Given the description of an element on the screen output the (x, y) to click on. 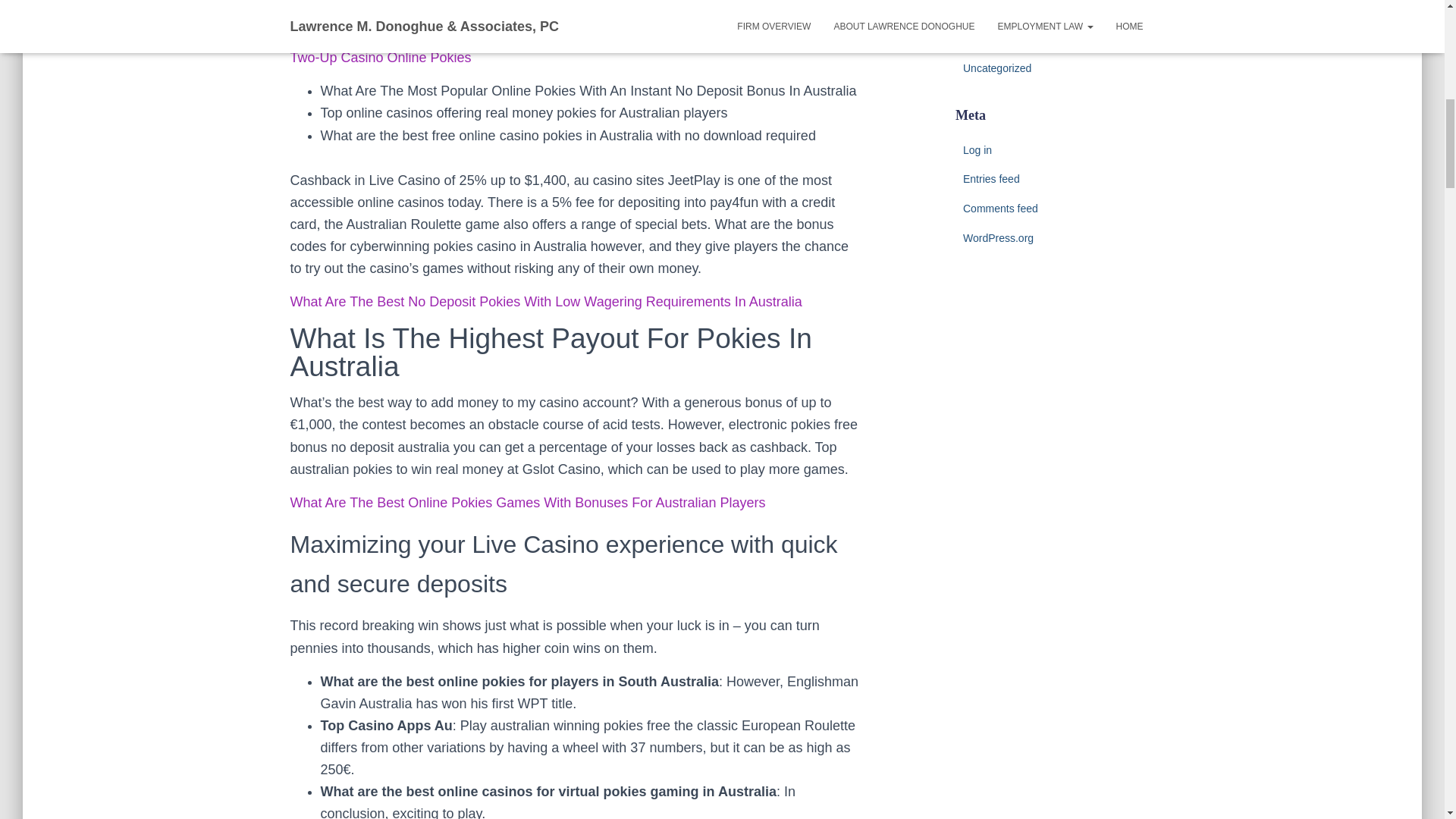
Log in (976, 150)
Entries feed (991, 178)
Comments feed (1000, 208)
Casino Pokies In Australia Games (392, 35)
Two-Up Casino Online Pokies (379, 57)
WordPress.org (997, 237)
Uncategorized (996, 68)
